Given the description of an element on the screen output the (x, y) to click on. 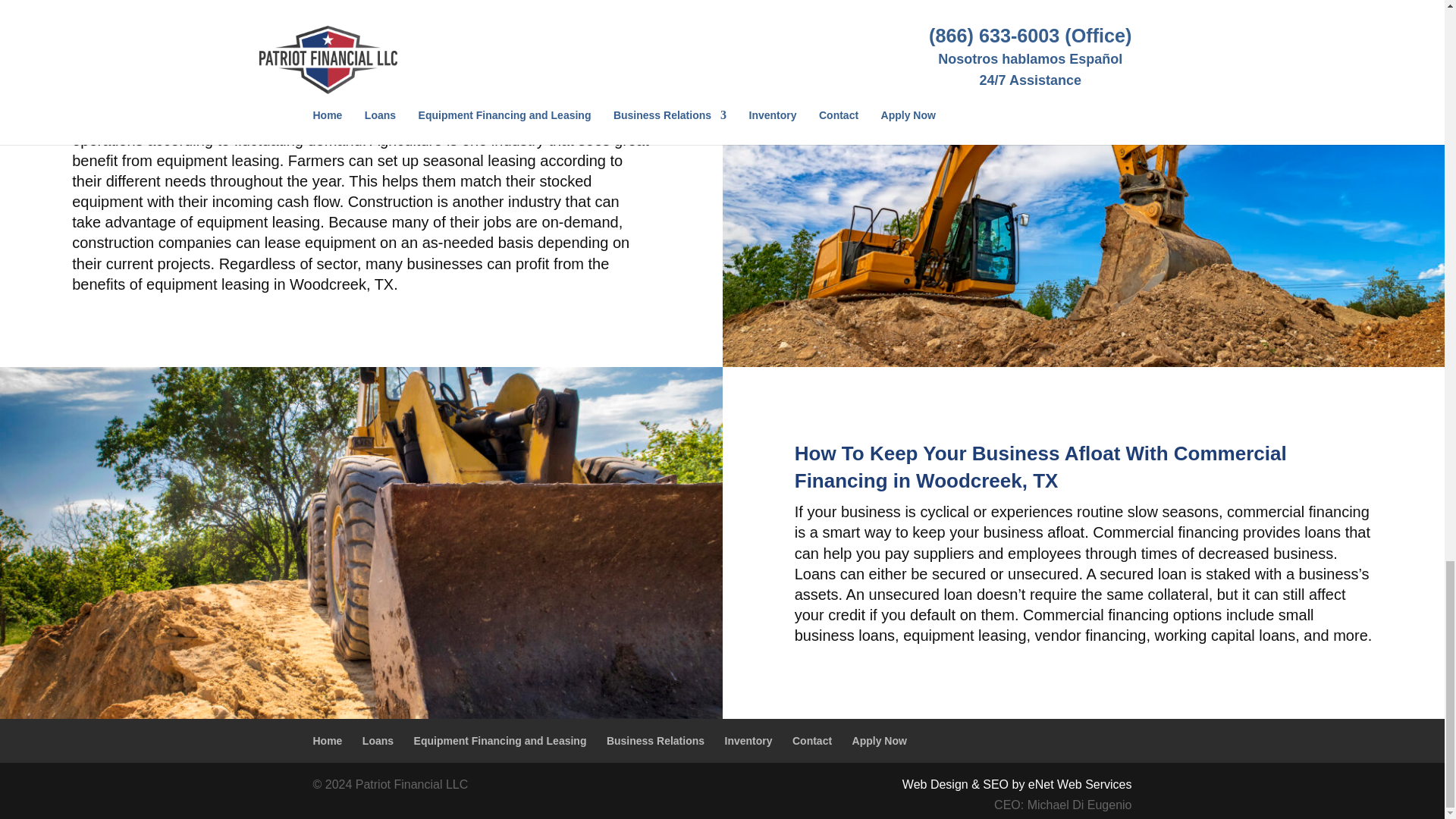
Apply Now (879, 740)
Loans (377, 740)
Inventory (749, 740)
Contact (811, 740)
Business Relations (655, 740)
Home (327, 740)
Equipment Financing and Leasing (499, 740)
